Given the description of an element on the screen output the (x, y) to click on. 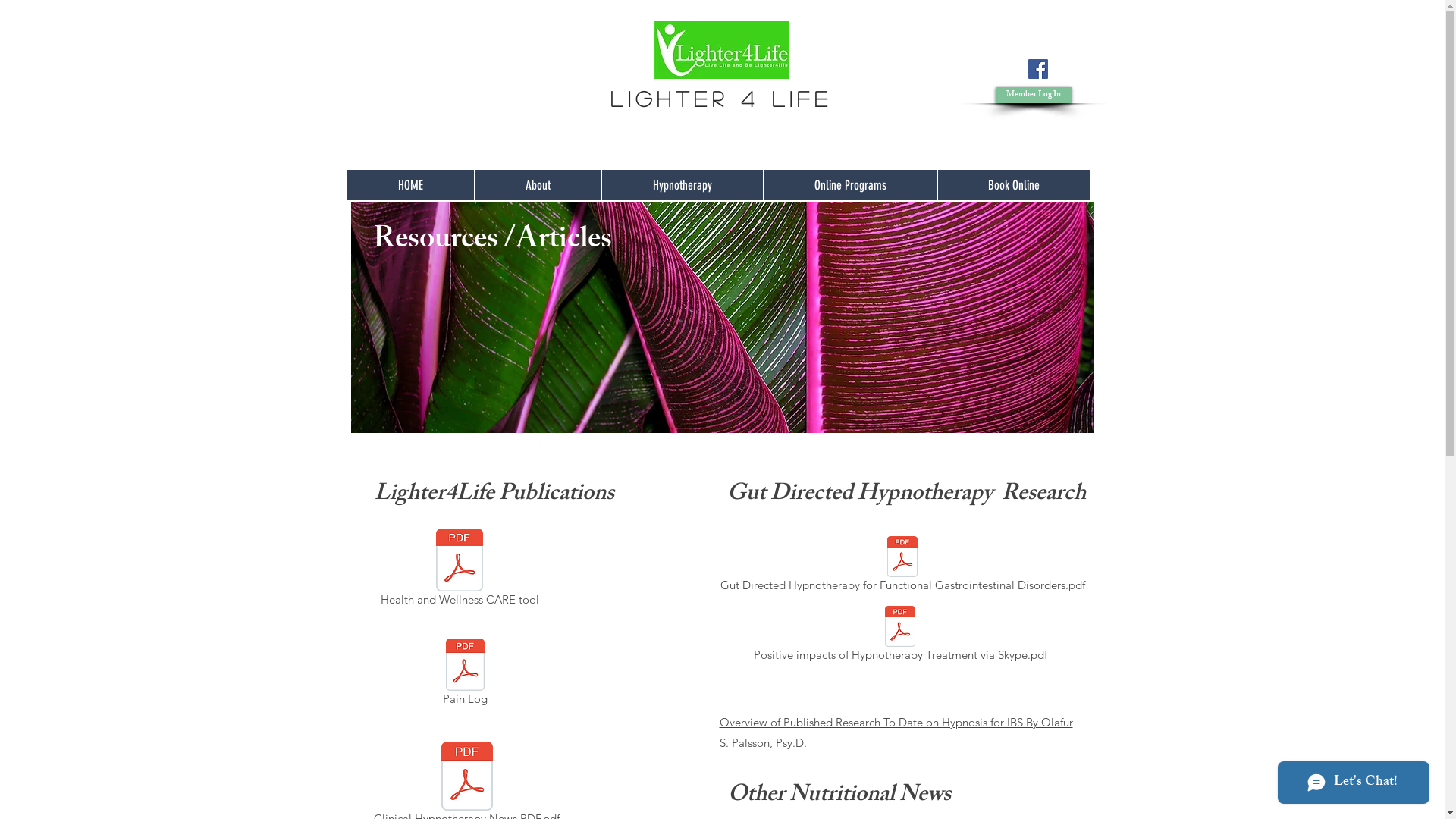
About Element type: text (536, 184)
Positive impacts of Hypnotherapy Treatment via Skype.pdf Element type: text (899, 635)
HOME Element type: text (410, 184)
Online Programs Element type: text (849, 184)
Hypnotherapy Element type: text (681, 184)
Pain Log Element type: text (464, 674)
Book Online Element type: text (1013, 184)
Health and Wellness CARE tool Element type: text (459, 569)
